Given the description of an element on the screen output the (x, y) to click on. 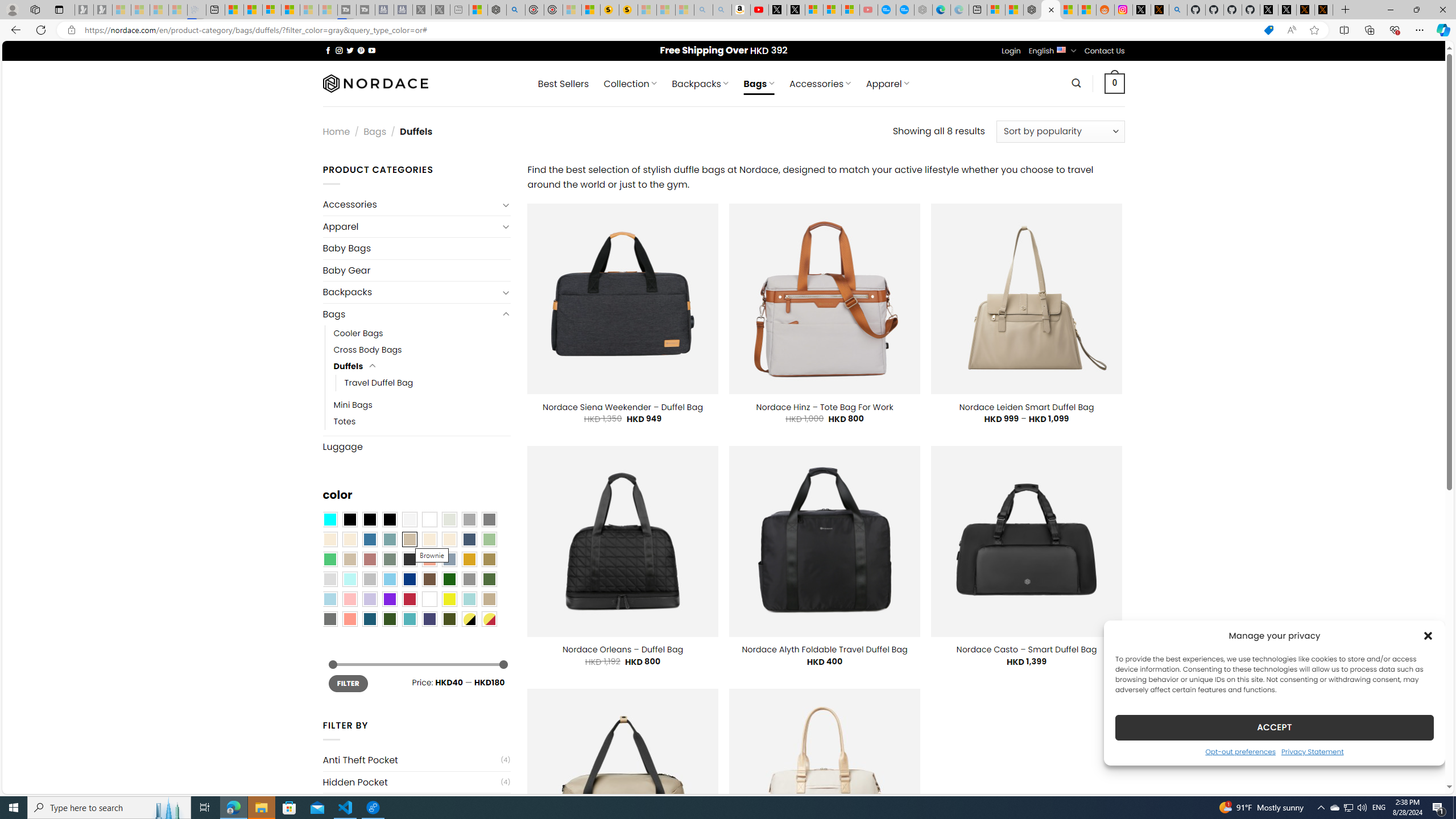
Bags (410, 314)
Yellow-Red (488, 618)
Hidden Pocket(4) (416, 781)
Laptop Sleeve(3) (416, 803)
Rose (369, 559)
Navy Blue (408, 579)
Contact Us (1104, 50)
Hale Navy (468, 539)
Baby Gear (416, 269)
Blue Sage (389, 539)
Red (408, 599)
